Given the description of an element on the screen output the (x, y) to click on. 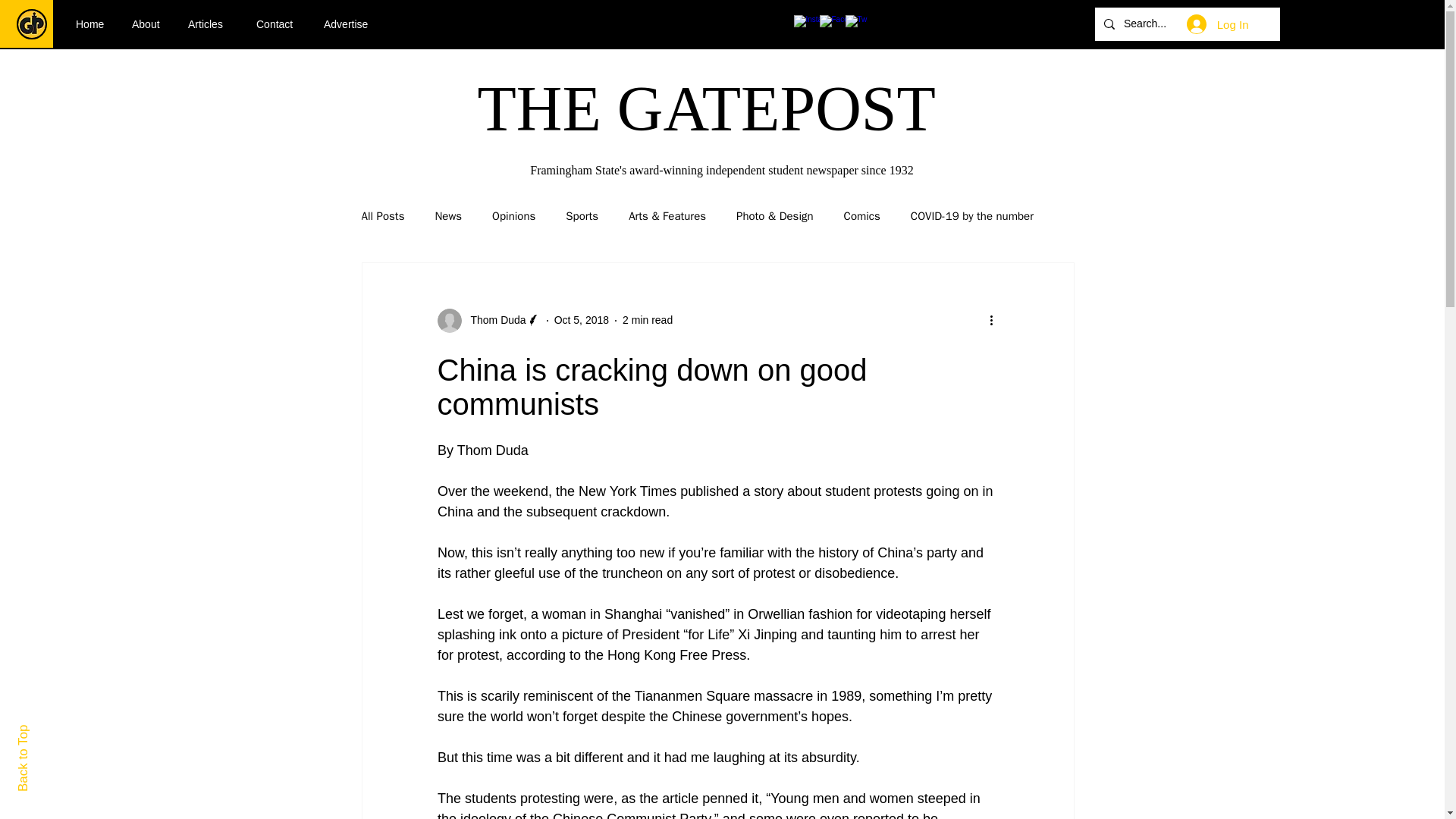
Contact (278, 24)
Opinions (513, 216)
Advertise (351, 24)
Log In (1217, 23)
Comics (862, 216)
Thom Duda (493, 320)
All Posts (382, 216)
2 min read (647, 319)
COVID-19 by the number (972, 216)
Articles (210, 24)
